Given the description of an element on the screen output the (x, y) to click on. 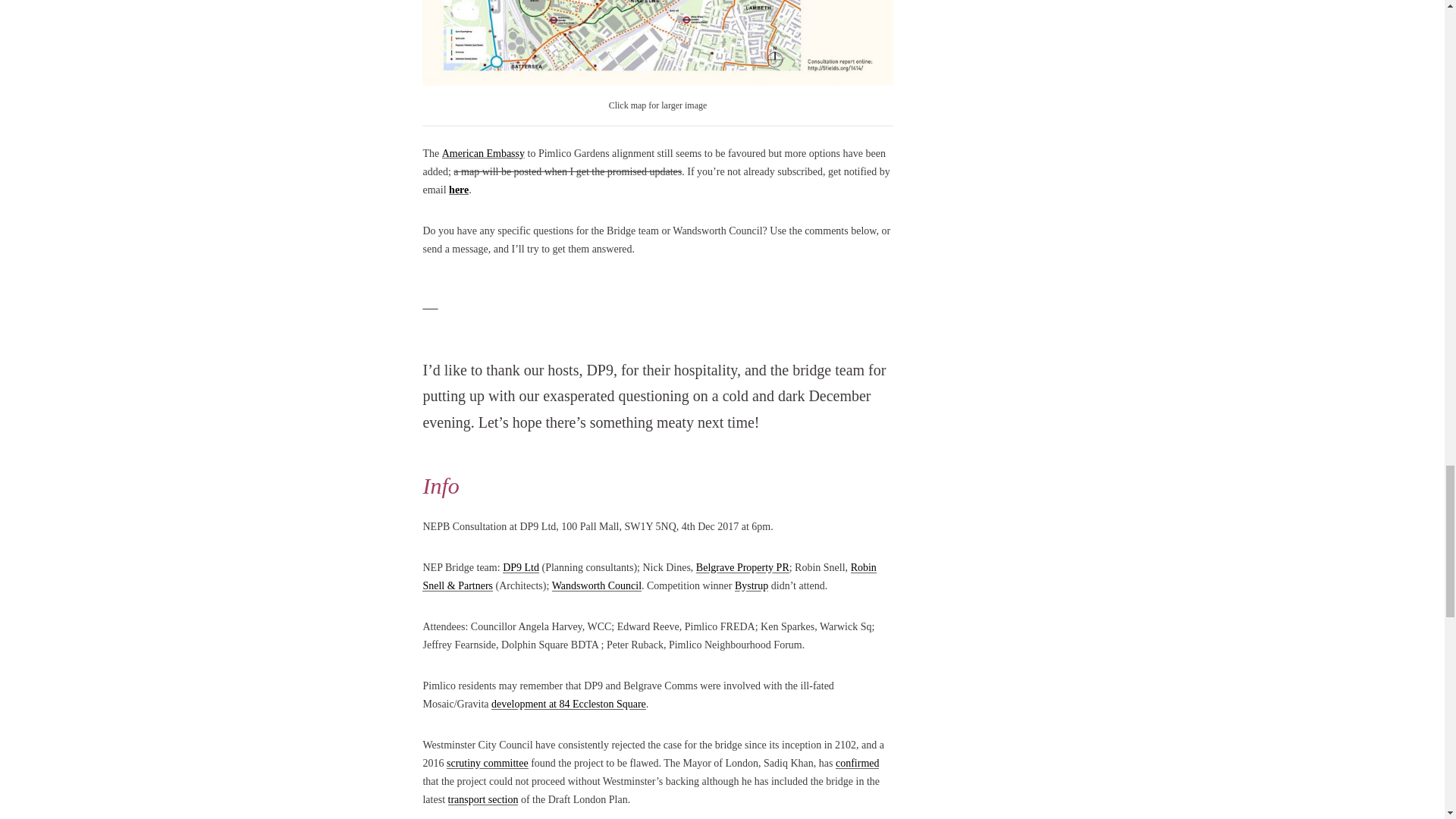
development at 84 Eccleston Square (569, 704)
American Embassy (483, 153)
confirmed (857, 763)
scrutiny committee (487, 763)
DP9 Ltd (520, 567)
Wandsworth Council (596, 585)
Bystrup (751, 585)
Belgrave Property PR (742, 567)
transport section (483, 799)
here (458, 189)
